Given the description of an element on the screen output the (x, y) to click on. 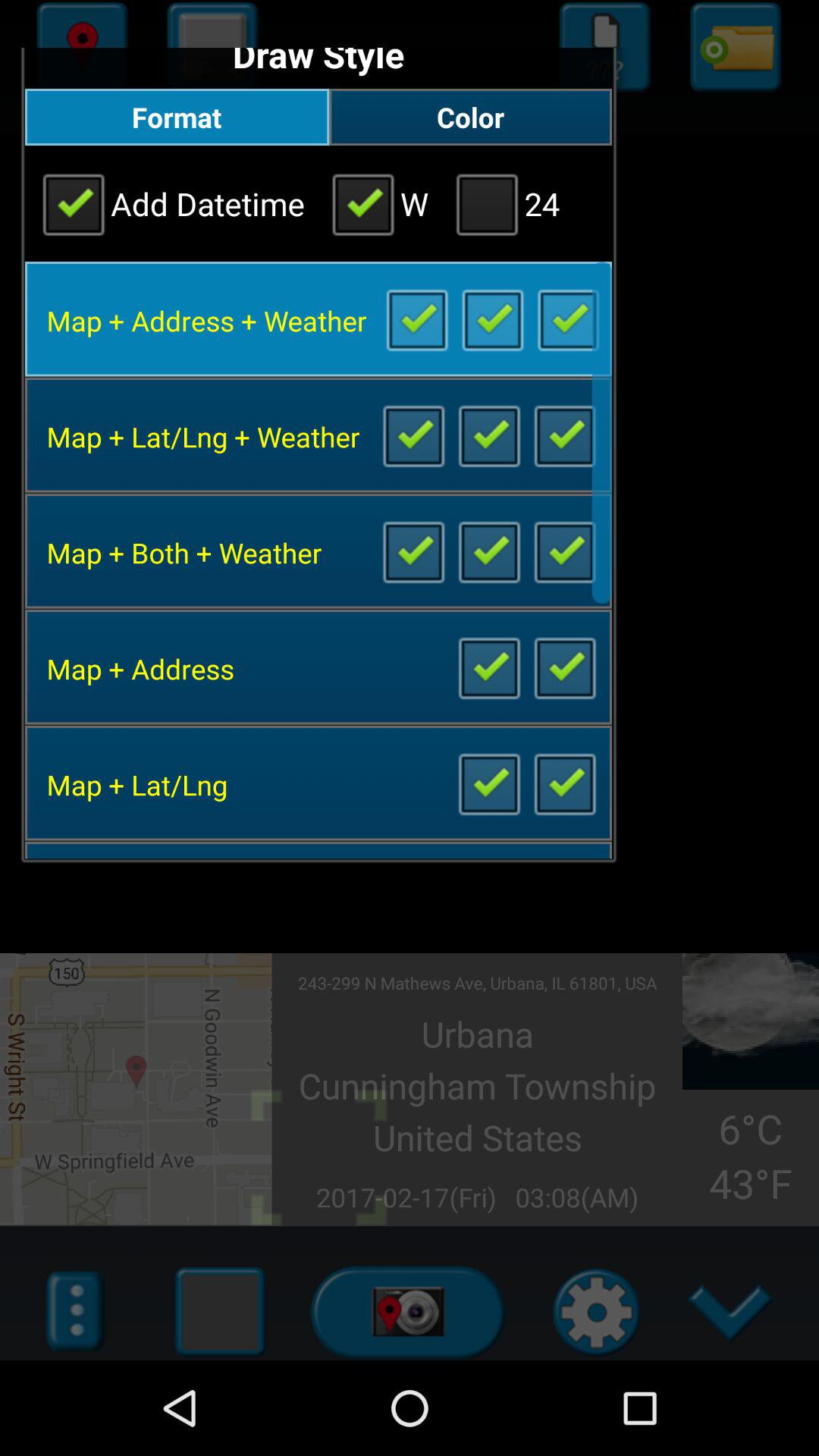
deselect box (564, 434)
